Given the description of an element on the screen output the (x, y) to click on. 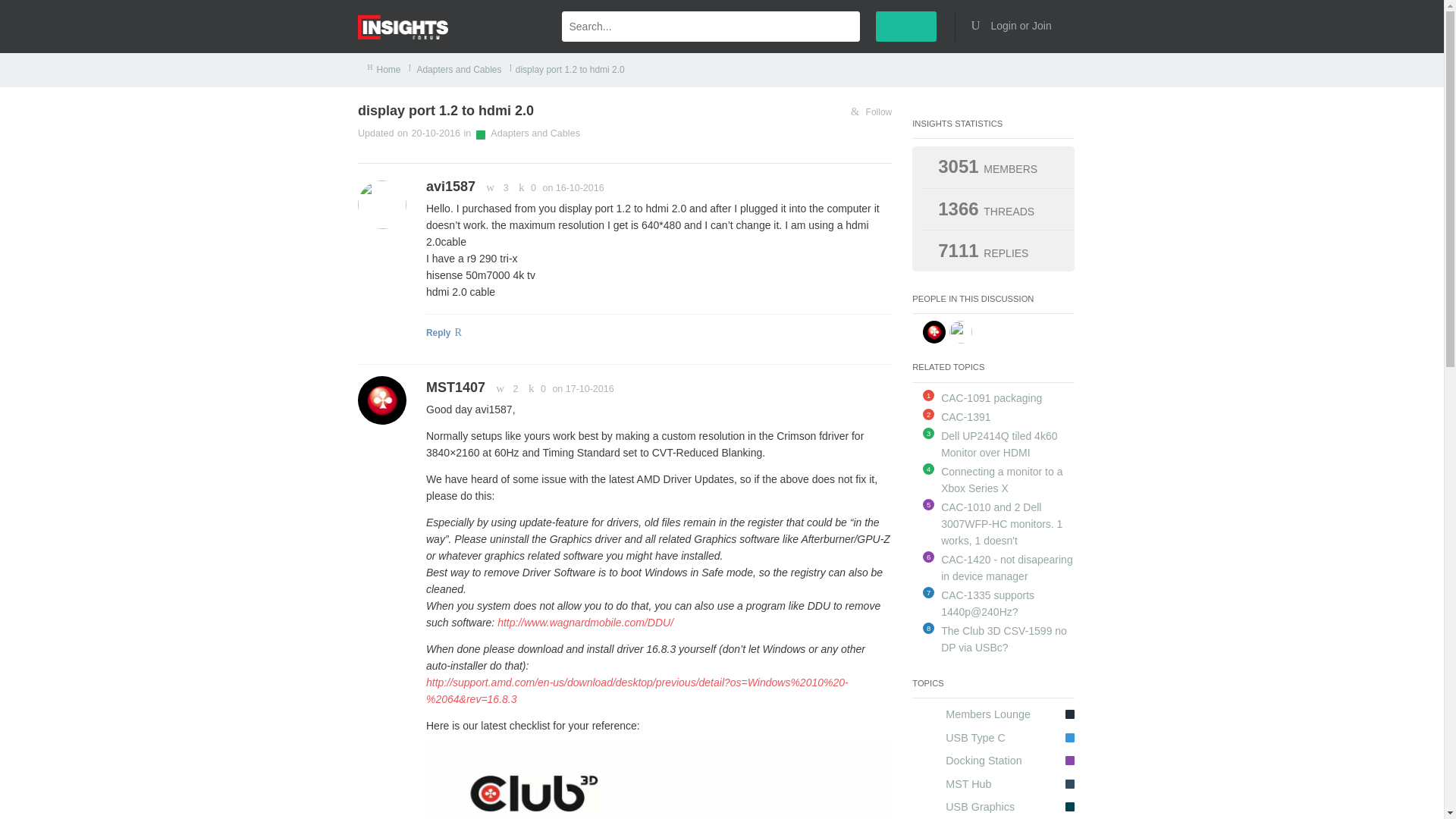
0 (524, 187)
Login or Join (1016, 26)
Adapters and Cables (458, 69)
Home (389, 69)
Adapters and Cables (534, 132)
2 (504, 388)
avi1587 (451, 186)
0 (534, 388)
Reply (658, 334)
MST1407 (455, 387)
